Given the description of an element on the screen output the (x, y) to click on. 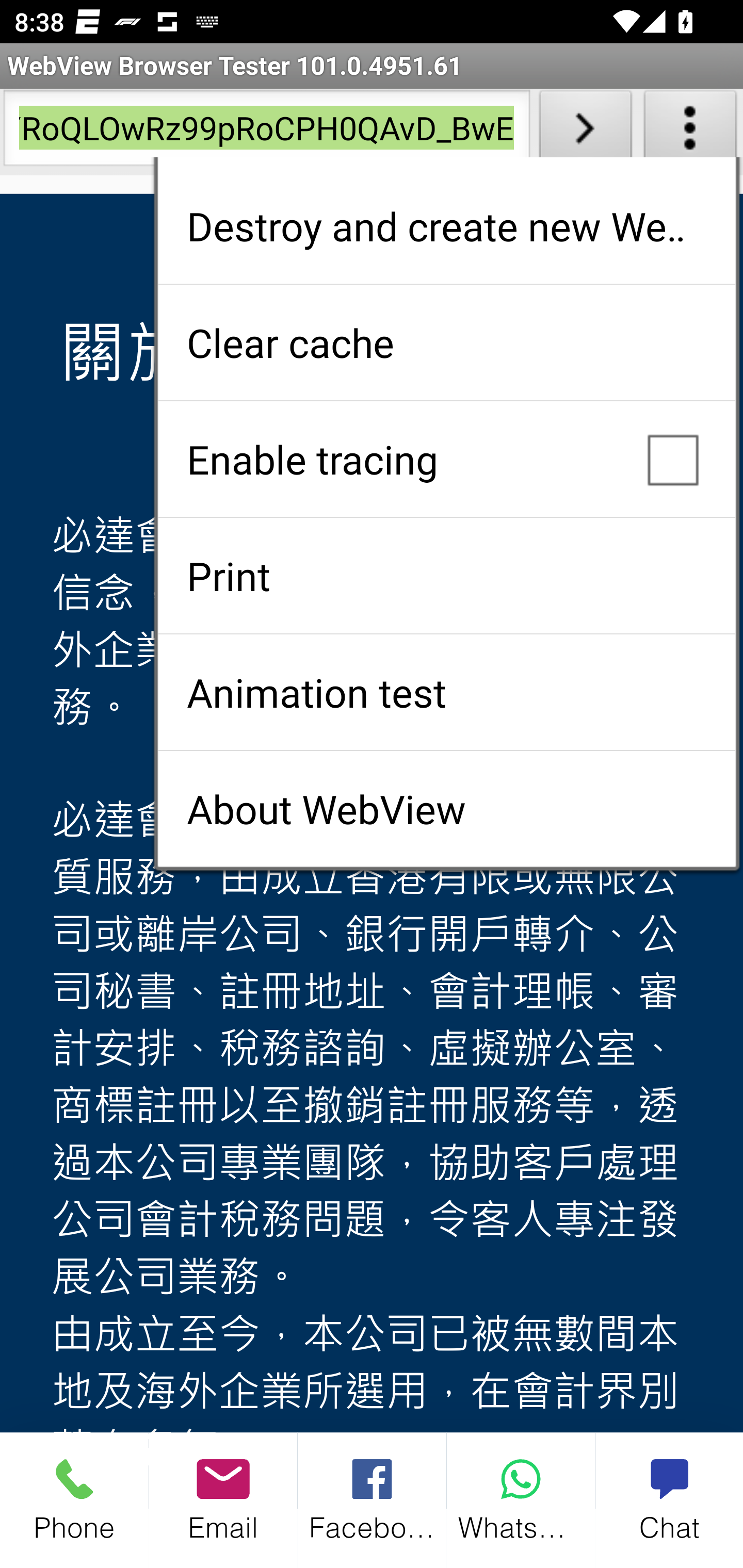
Destroy and create new WebView (446, 225)
Clear cache (446, 342)
Enable tracing (446, 459)
Print (446, 575)
Animation test (446, 692)
About WebView (446, 809)
